Given the description of an element on the screen output the (x, y) to click on. 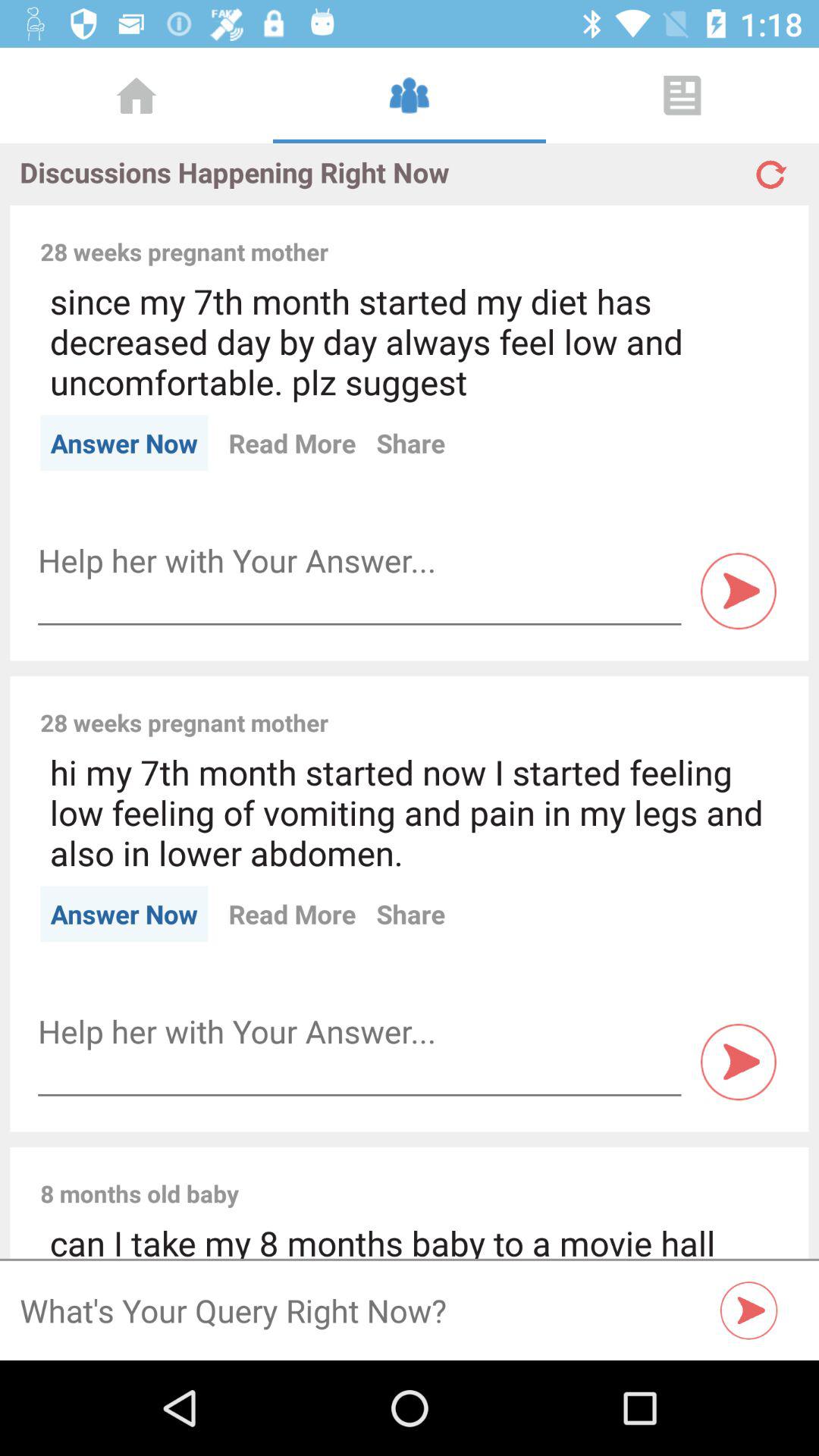
refresh discussions (768, 168)
